Given the description of an element on the screen output the (x, y) to click on. 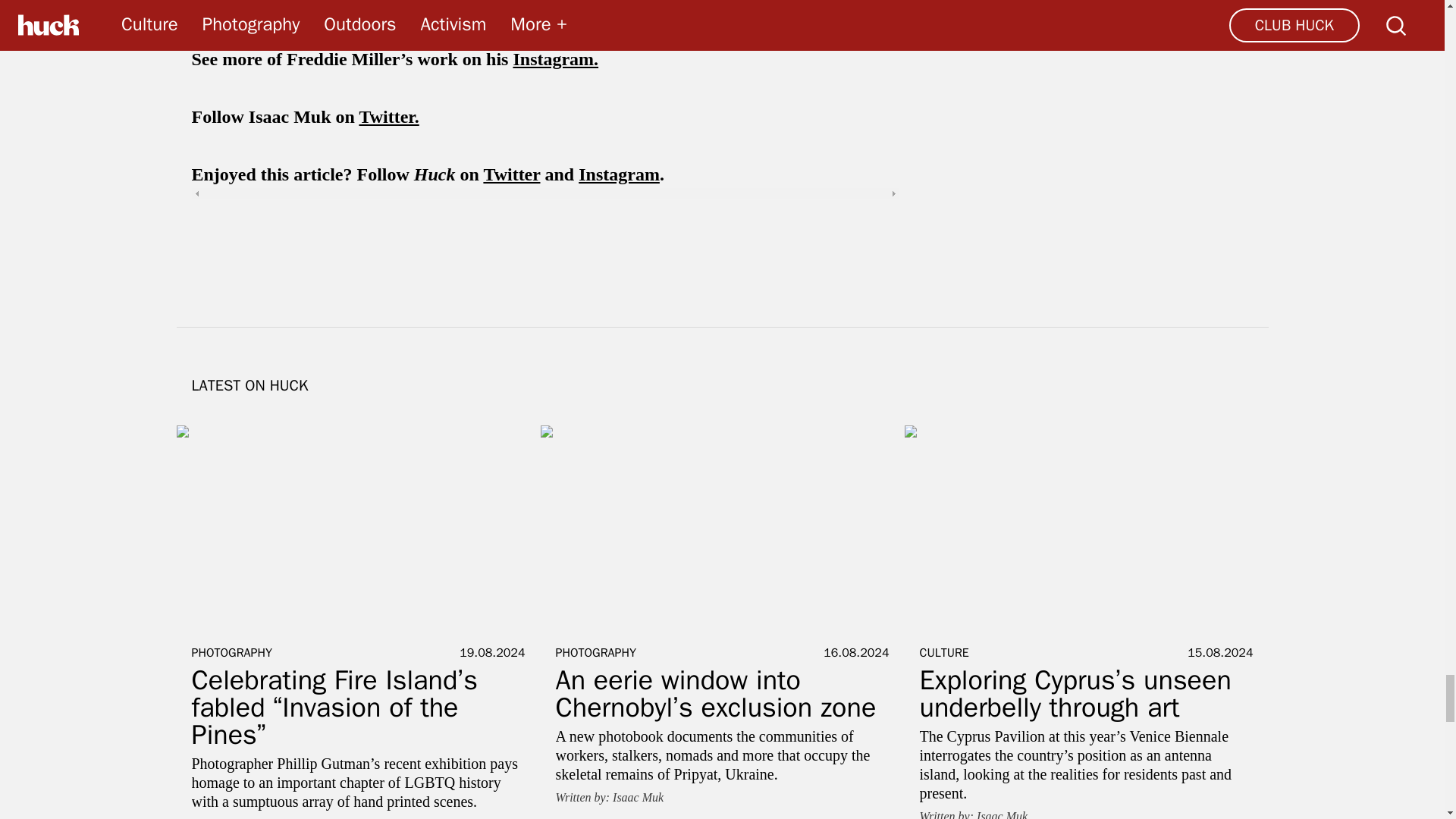
Instagram. (555, 58)
Twitter. (388, 116)
Twitter (511, 174)
Instagram (618, 174)
